Given the description of an element on the screen output the (x, y) to click on. 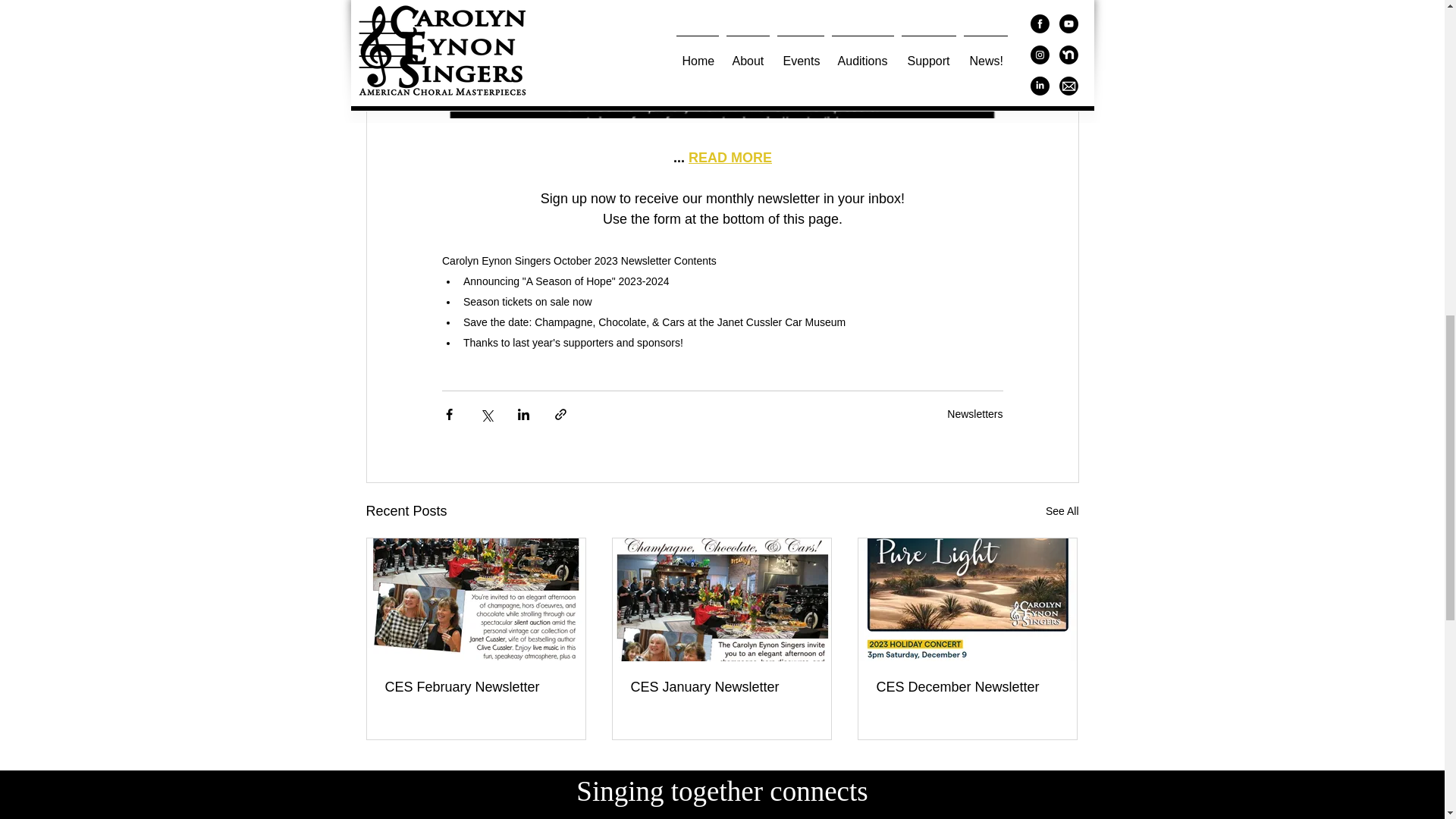
READ MORE (729, 157)
